Given the description of an element on the screen output the (x, y) to click on. 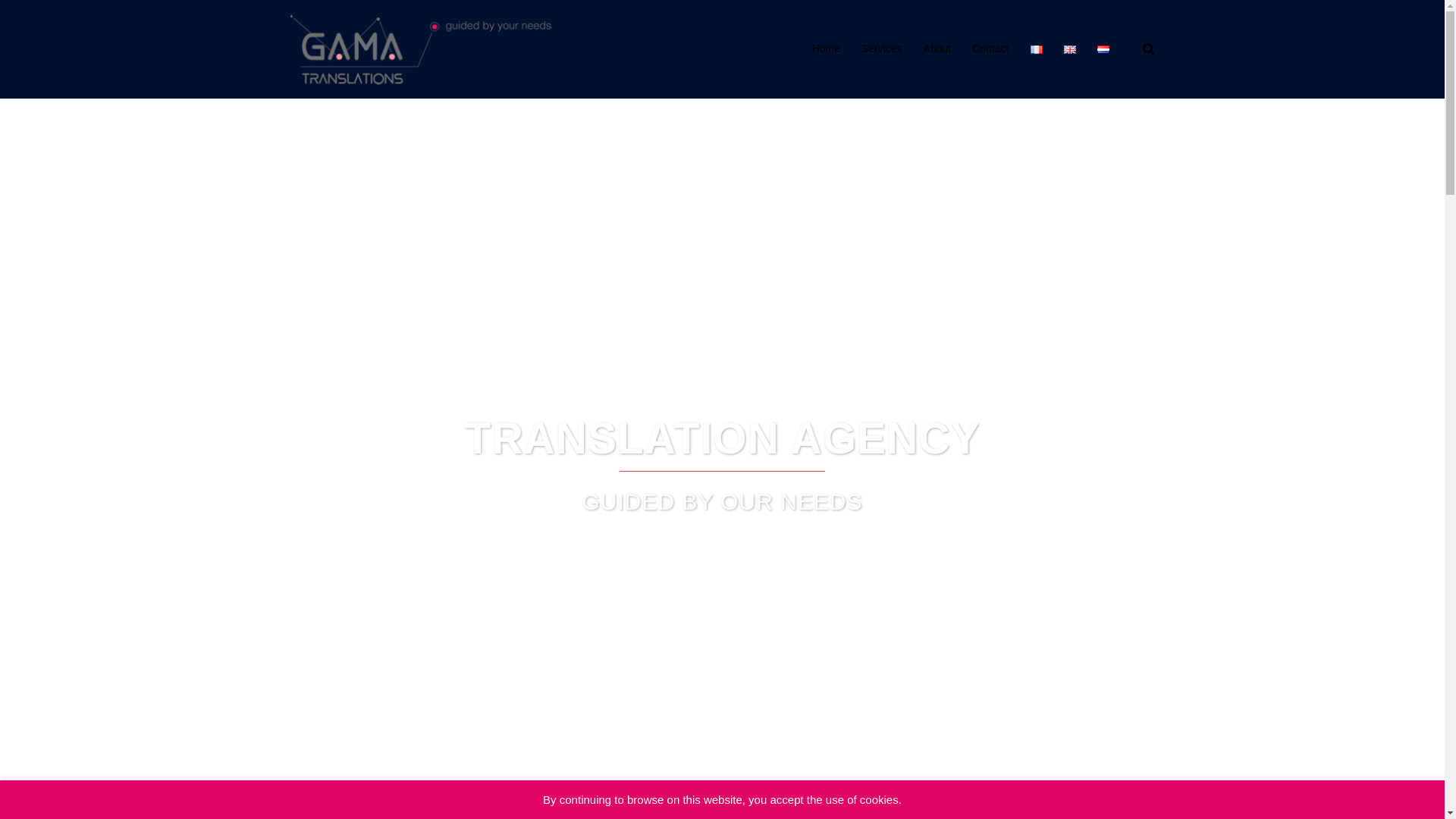
Home (826, 49)
Services (881, 49)
Gama-translations (421, 47)
About (937, 49)
Contact (990, 49)
